Given the description of an element on the screen output the (x, y) to click on. 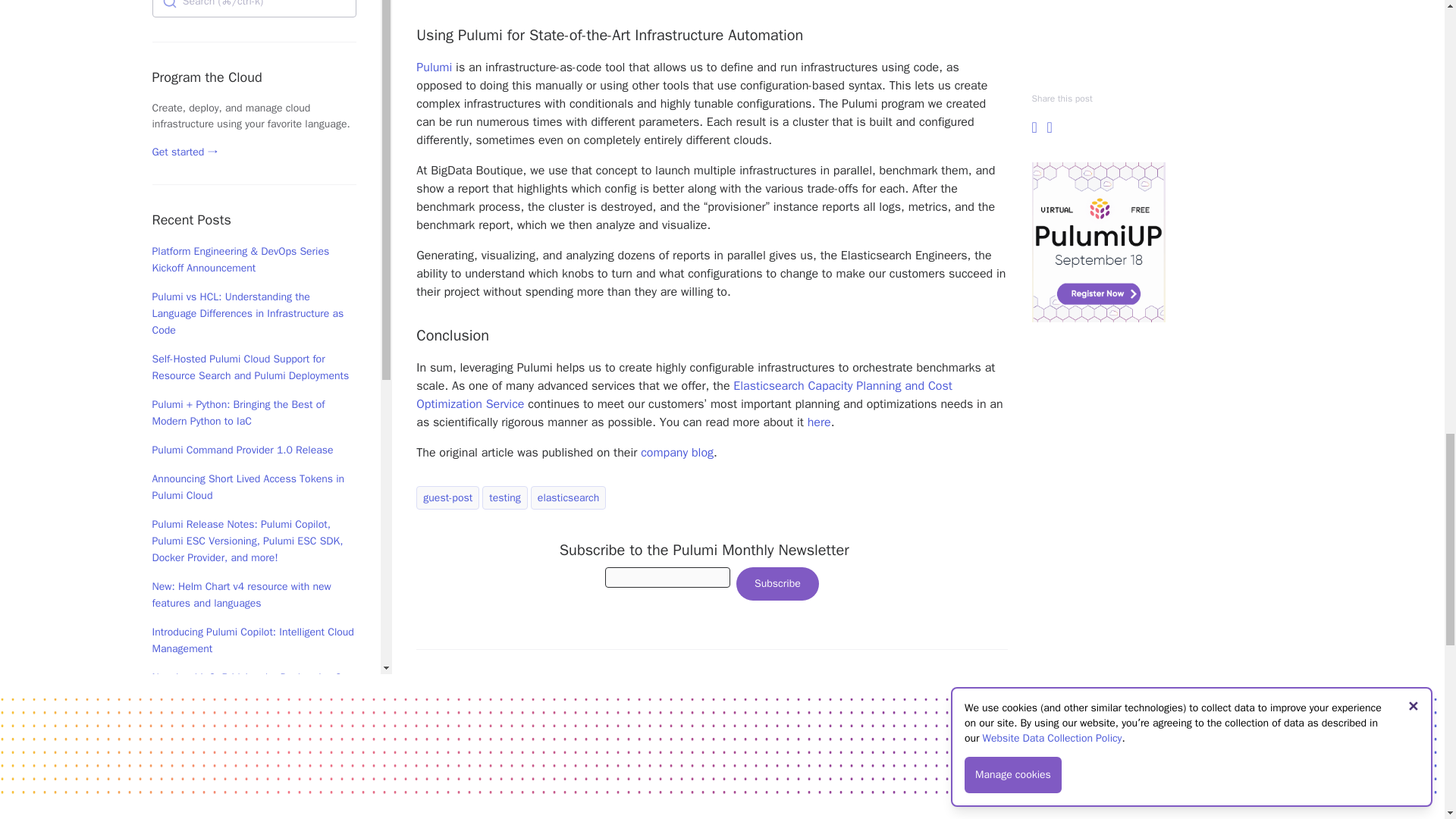
Subscribe (777, 583)
